Given the description of an element on the screen output the (x, y) to click on. 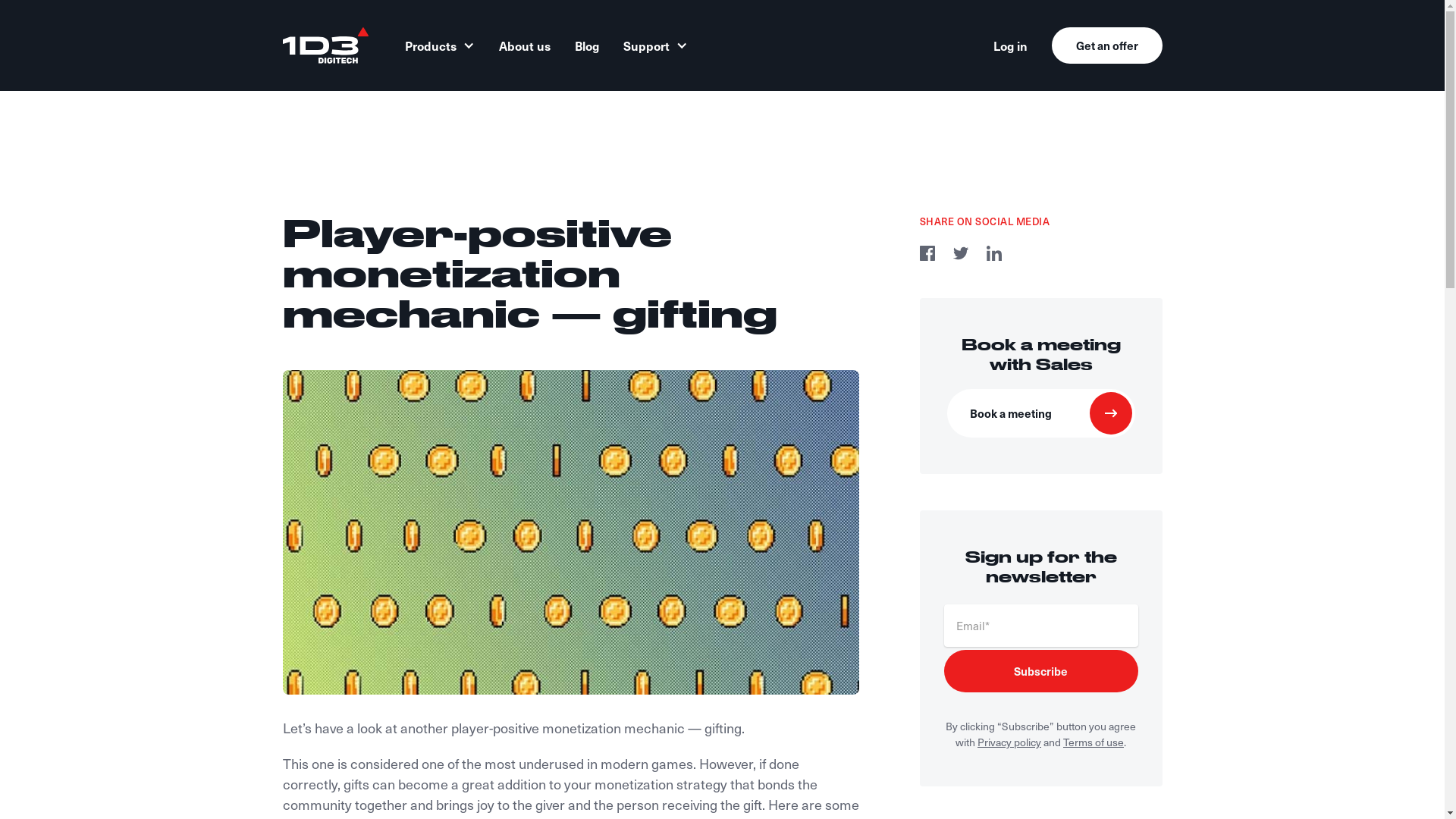
About us Element type: text (524, 45)
Log in Element type: text (1010, 45)
Share on LinkedIn Element type: hover (993, 255)
Get an offer Element type: text (1106, 45)
Book a meeting Element type: text (1040, 413)
Share on Facebook Element type: hover (926, 255)
Blog Element type: text (586, 45)
Privacy policy Element type: text (1009, 741)
Subscribe Element type: text (1040, 670)
Terms of use Element type: text (1093, 741)
Share on Twitter Element type: hover (959, 255)
